Given the description of an element on the screen output the (x, y) to click on. 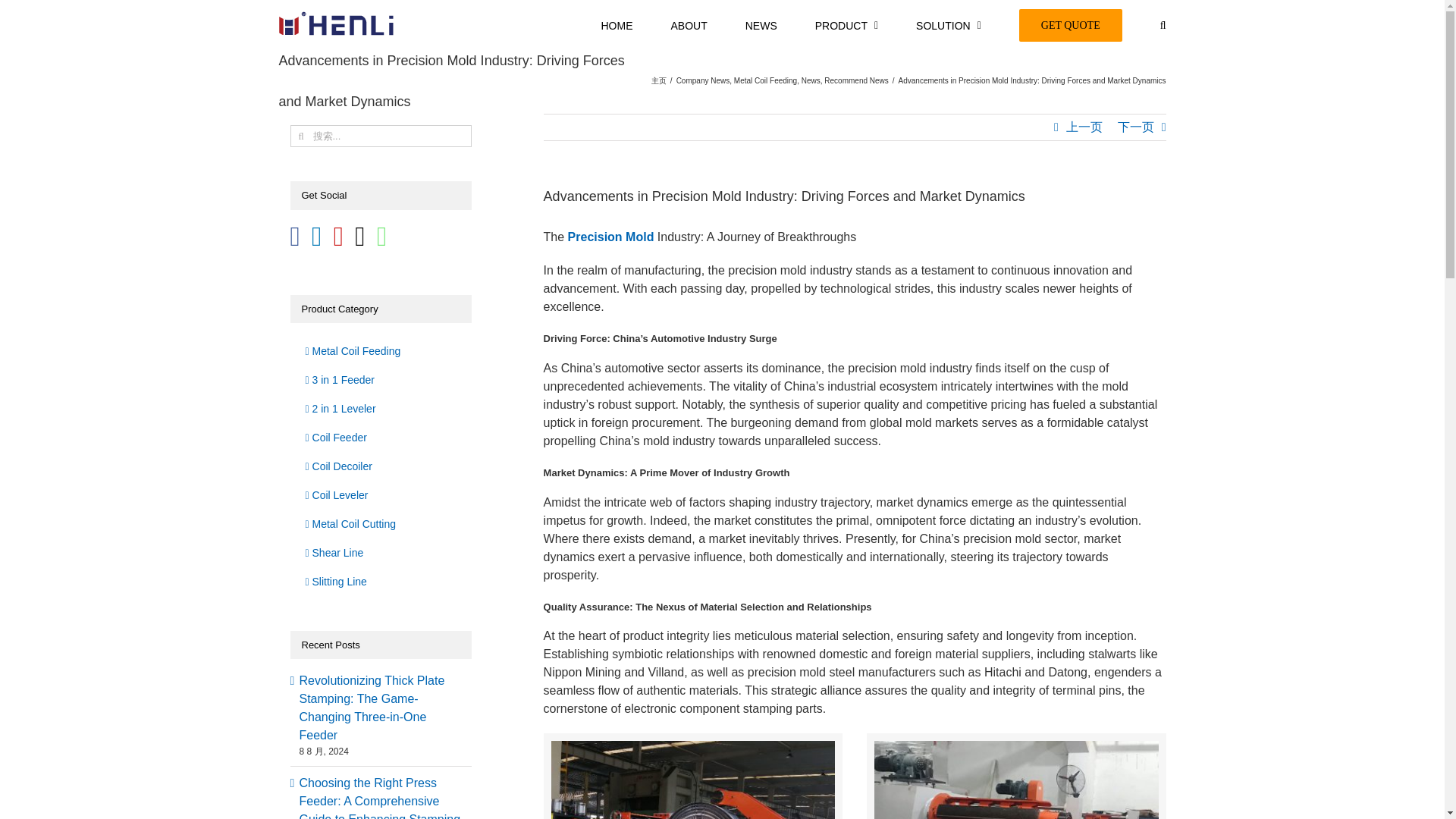
GET QUOTE (1070, 23)
Metal Coil Feeding (764, 80)
Precision Mold (692, 780)
Precision Mold (1016, 780)
PRODUCT (846, 23)
SOLUTION (948, 23)
Company News (703, 80)
News (811, 80)
